Given the description of an element on the screen output the (x, y) to click on. 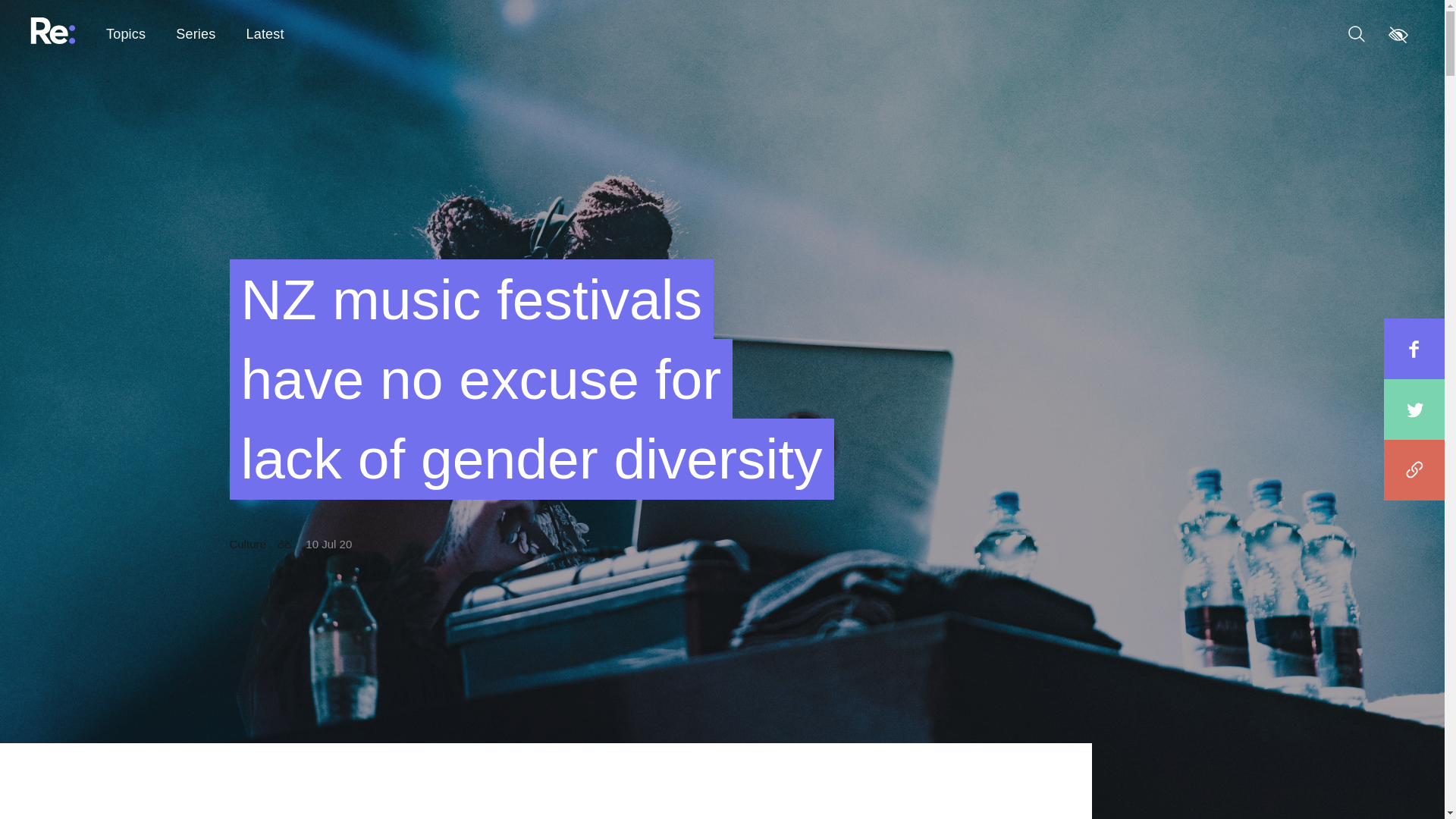
Mute (76, 789)
Latest (264, 34)
Mute (76, 789)
Series (195, 34)
Topics (125, 34)
Play (42, 789)
Fullscreen (1401, 789)
Accessibility menu (1398, 33)
Play (42, 789)
Fullscreen (1401, 789)
